Given the description of an element on the screen output the (x, y) to click on. 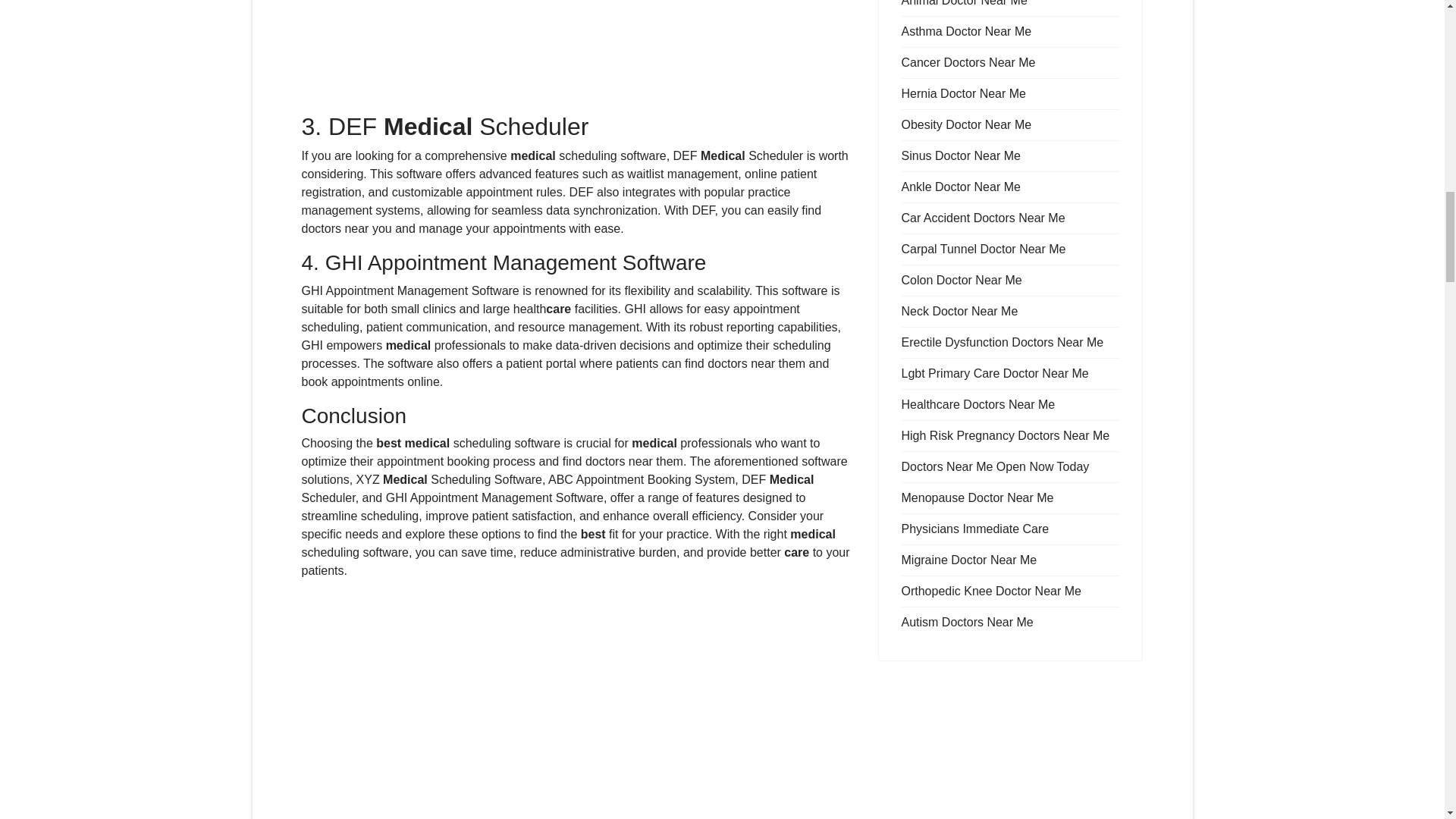
cincinnati oh ac doctors near me open now primary care (578, 56)
atlanta ga ac doctors near me best specialists urgent care (578, 705)
